Given the description of an element on the screen output the (x, y) to click on. 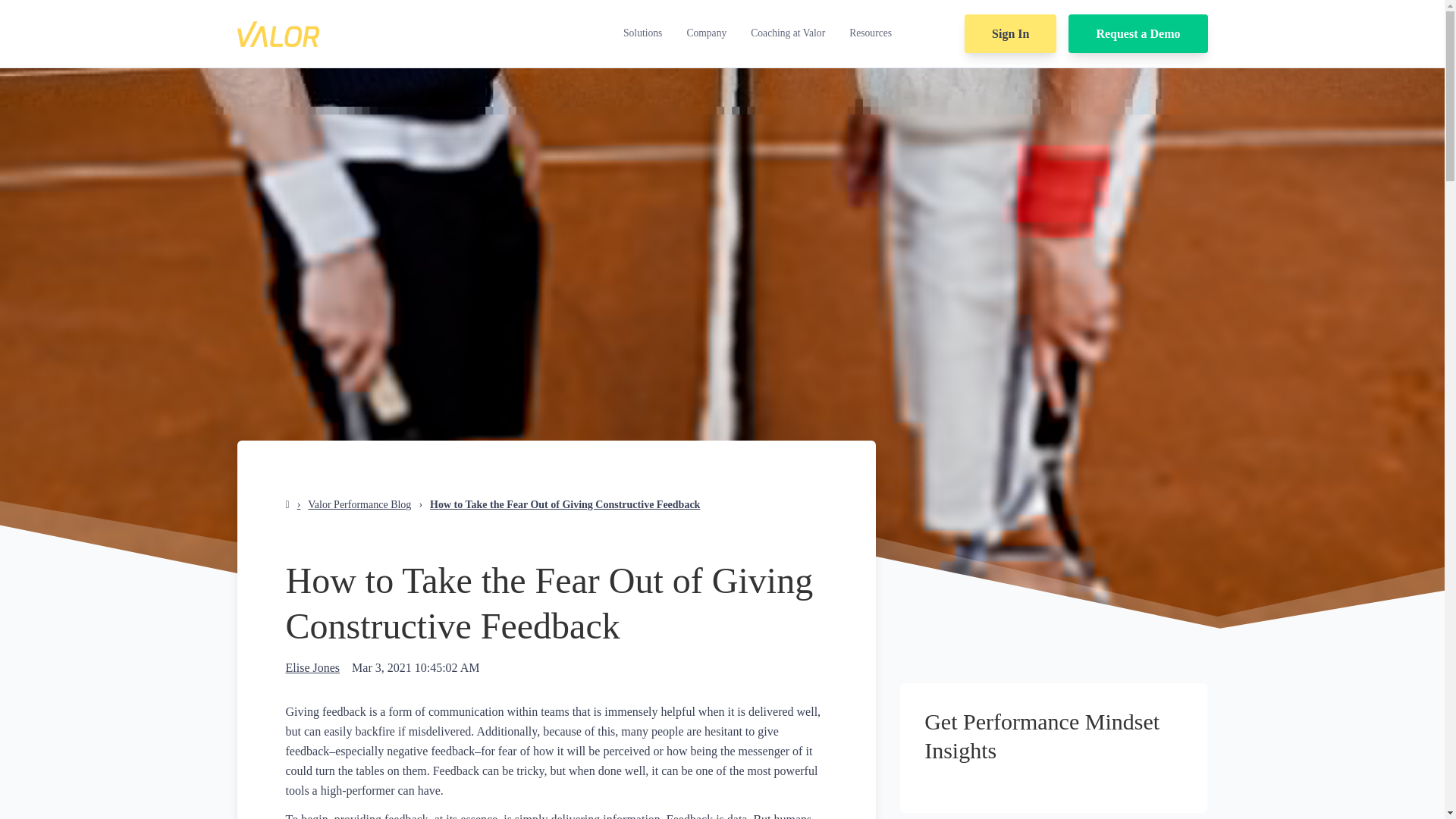
Valor Performance Blog (358, 504)
Resources (870, 33)
Coaching at Valor (787, 33)
Elise Jones (312, 668)
logo-yellow (276, 33)
Solutions (642, 33)
Company (706, 33)
Request a Demo (1137, 33)
Sign In (1010, 33)
